Given the description of an element on the screen output the (x, y) to click on. 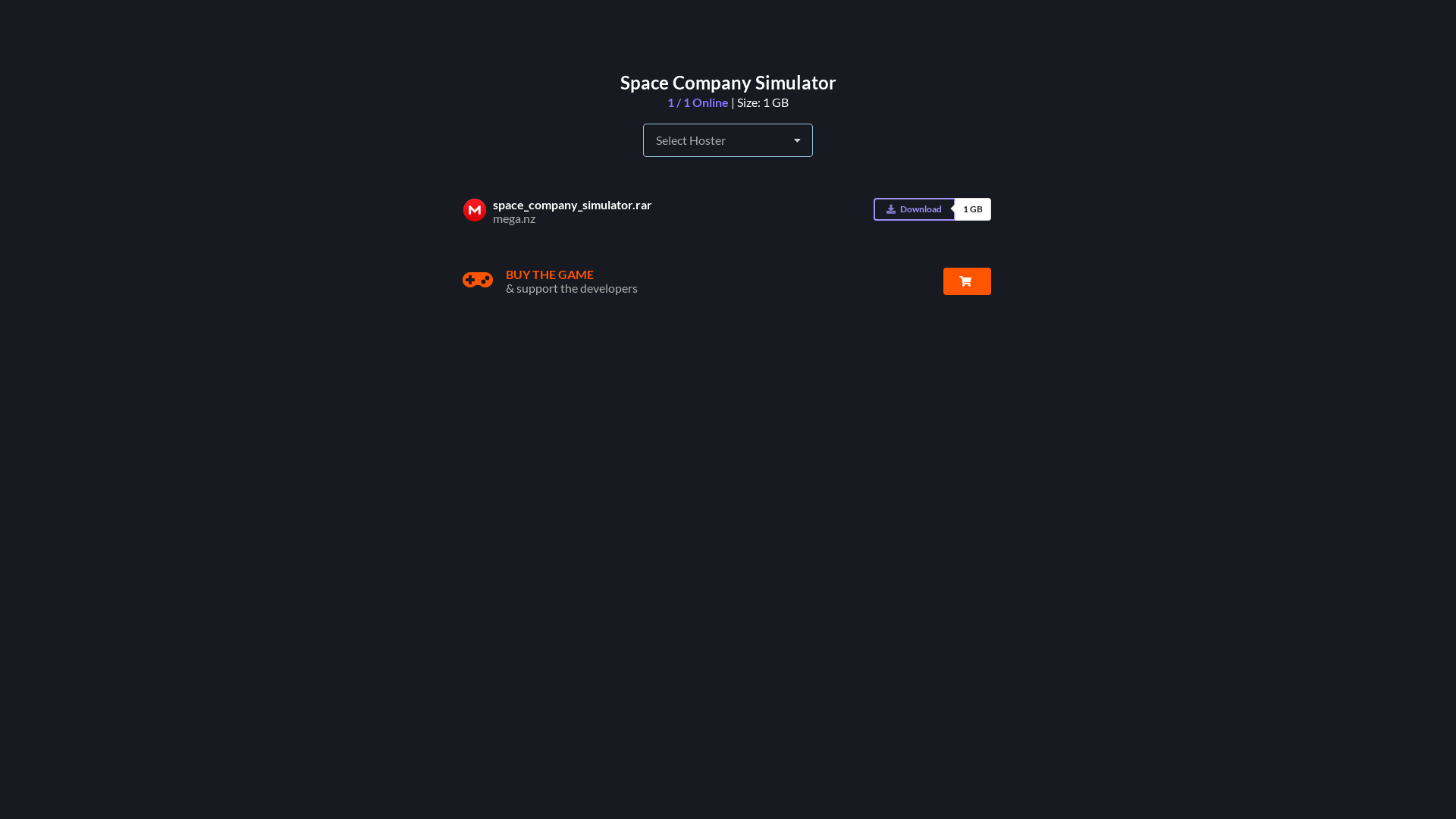
Download Element type: text (914, 209)
1 GB Element type: text (972, 209)
